Given the description of an element on the screen output the (x, y) to click on. 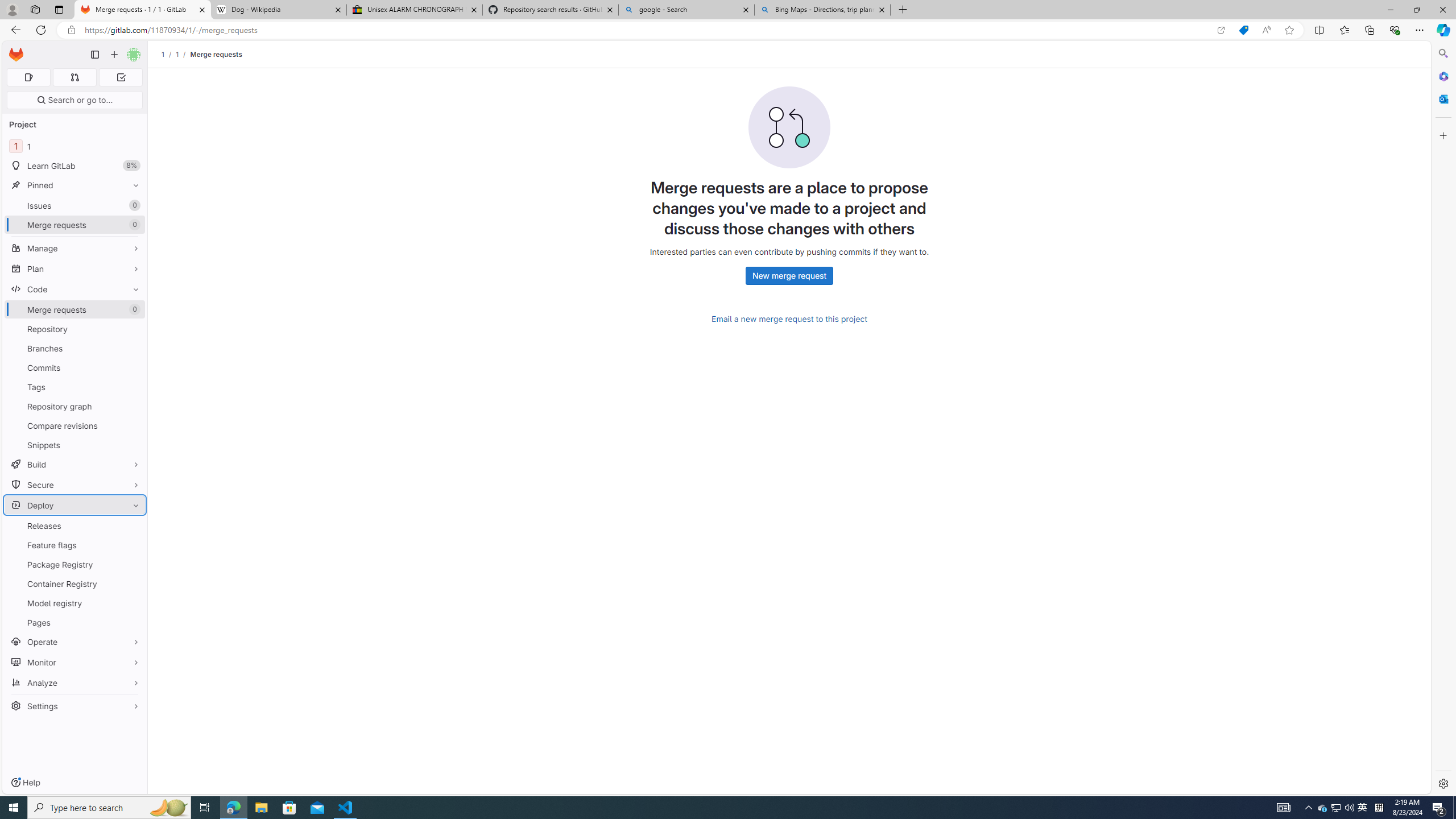
Repository graph (74, 406)
Email a new merge request to this project (789, 319)
Merge requests 0 (74, 76)
Secure (74, 484)
Side bar (1443, 418)
Repository graph (74, 406)
google - Search (685, 9)
Operate (74, 641)
Pin Repository (132, 328)
Address and search bar (647, 29)
Shopping in Microsoft Edge (1243, 29)
Pin Tags (132, 386)
Outlook (1442, 98)
Issues0 (74, 205)
